Given the description of an element on the screen output the (x, y) to click on. 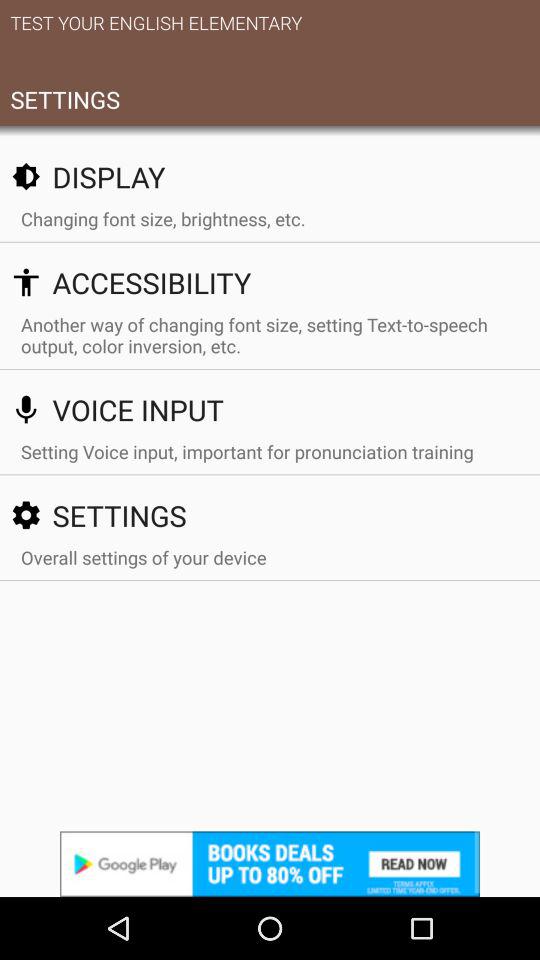
advertisement (270, 864)
